Given the description of an element on the screen output the (x, y) to click on. 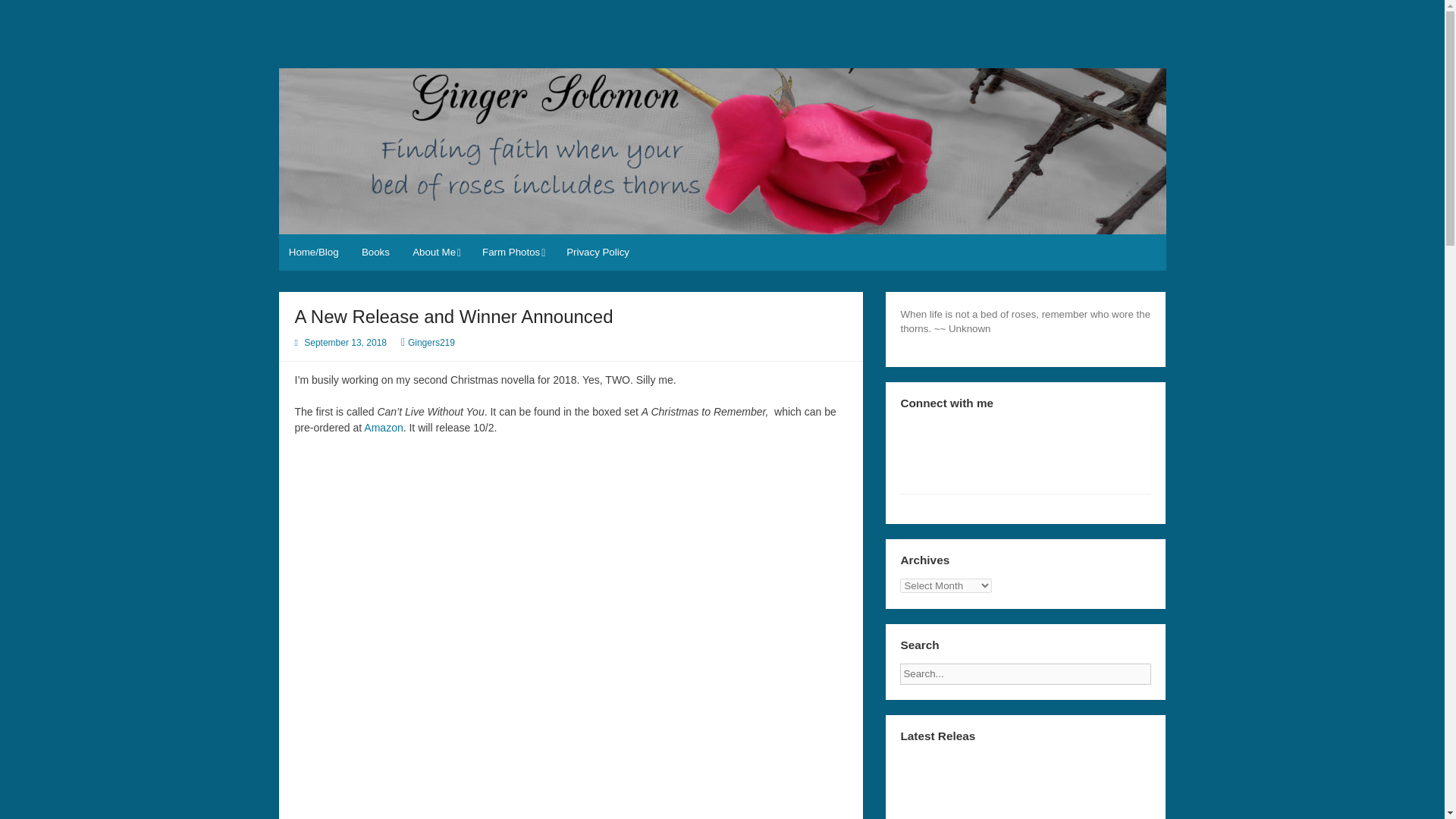
Search (1163, 669)
Gingers219 (430, 342)
Books (376, 252)
Amazon (383, 427)
Search (1163, 669)
Farm Photos (512, 252)
Privacy Policy (597, 252)
September 13, 2018 (345, 342)
About Me (435, 252)
